Given the description of an element on the screen output the (x, y) to click on. 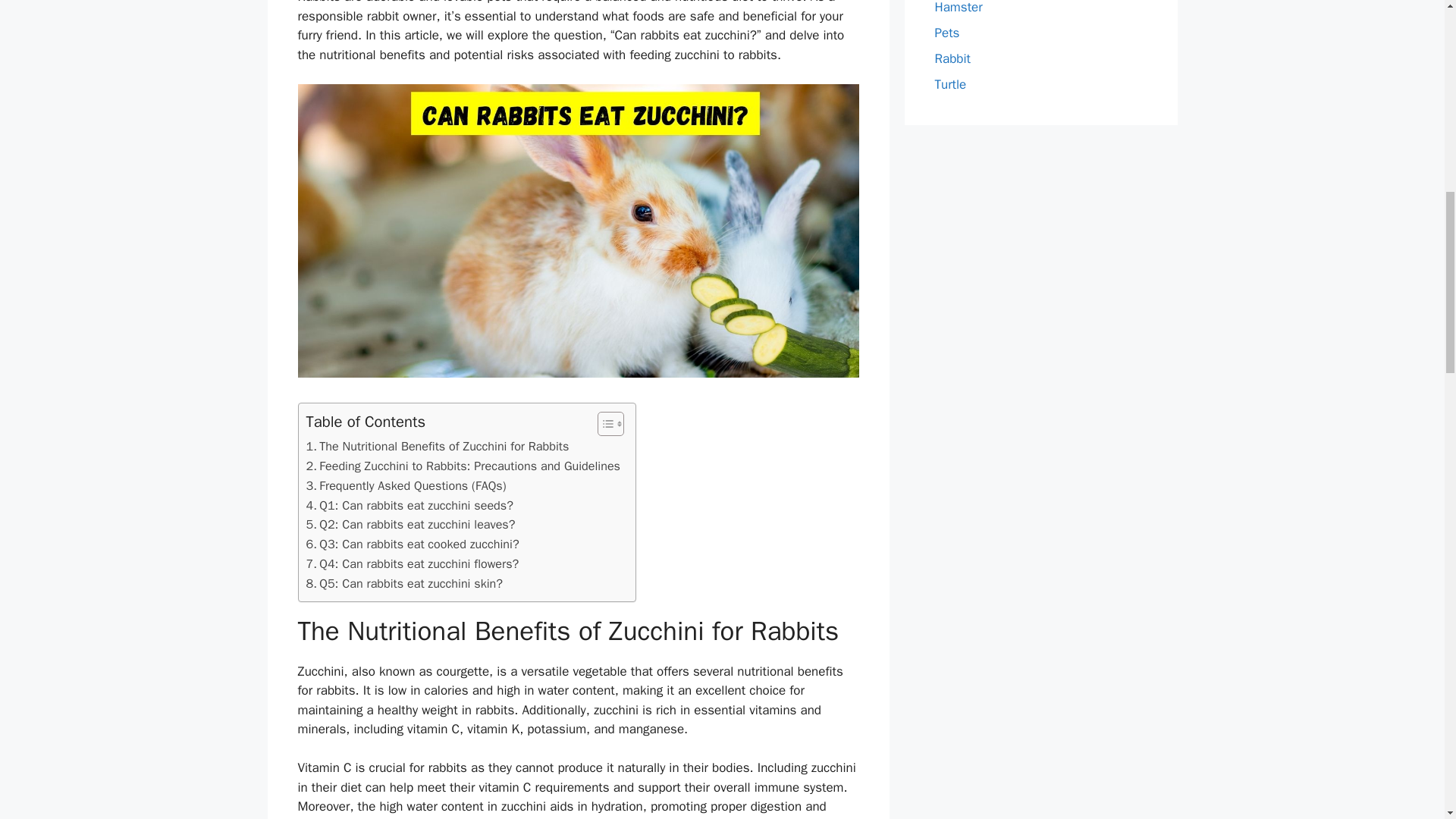
Q1: Can rabbits eat zucchini seeds? (409, 505)
Q4: Can rabbits eat zucchini flowers? (412, 564)
The Nutritional Benefits of Zucchini for Rabbits (437, 446)
Q5: Can rabbits eat zucchini skin? (404, 583)
Q3: Can rabbits eat cooked zucchini? (412, 544)
Q4: Can rabbits eat zucchini flowers? (412, 564)
Q2: Can rabbits eat zucchini leaves? (410, 524)
Q5: Can rabbits eat zucchini skin? (404, 583)
Feeding Zucchini to Rabbits: Precautions and Guidelines (463, 465)
The Nutritional Benefits of Zucchini for Rabbits (437, 446)
Feeding Zucchini to Rabbits: Precautions and Guidelines (463, 465)
Q3: Can rabbits eat cooked zucchini? (412, 544)
Q2: Can rabbits eat zucchini leaves? (410, 524)
Q1: Can rabbits eat zucchini seeds? (409, 505)
